Given the description of an element on the screen output the (x, y) to click on. 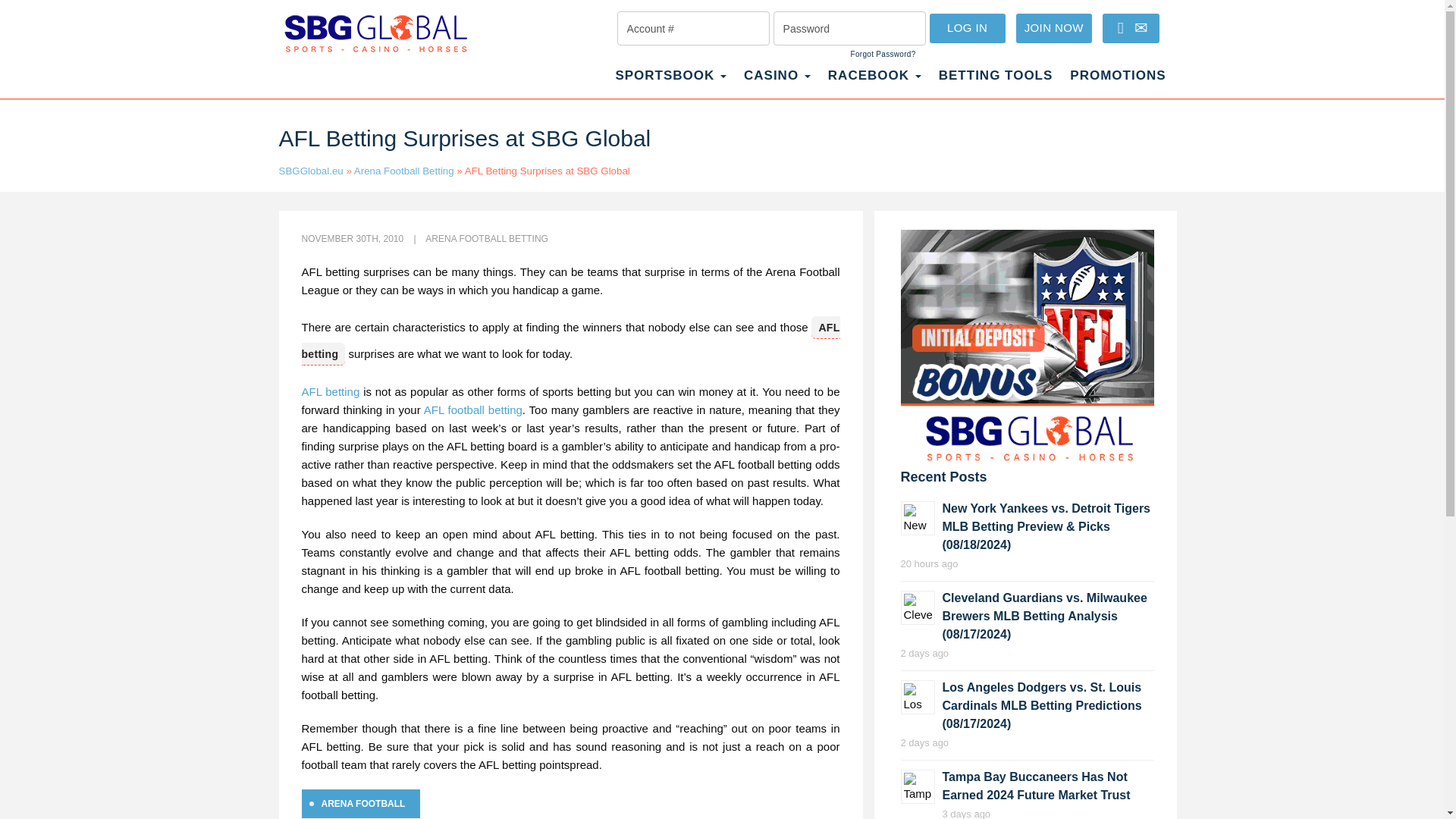
LOG IN (968, 28)
Sportsbook (670, 83)
JOIN NOW (1054, 28)
SPORTSBOOK (670, 83)
Forgot Password? (882, 53)
